Given the description of an element on the screen output the (x, y) to click on. 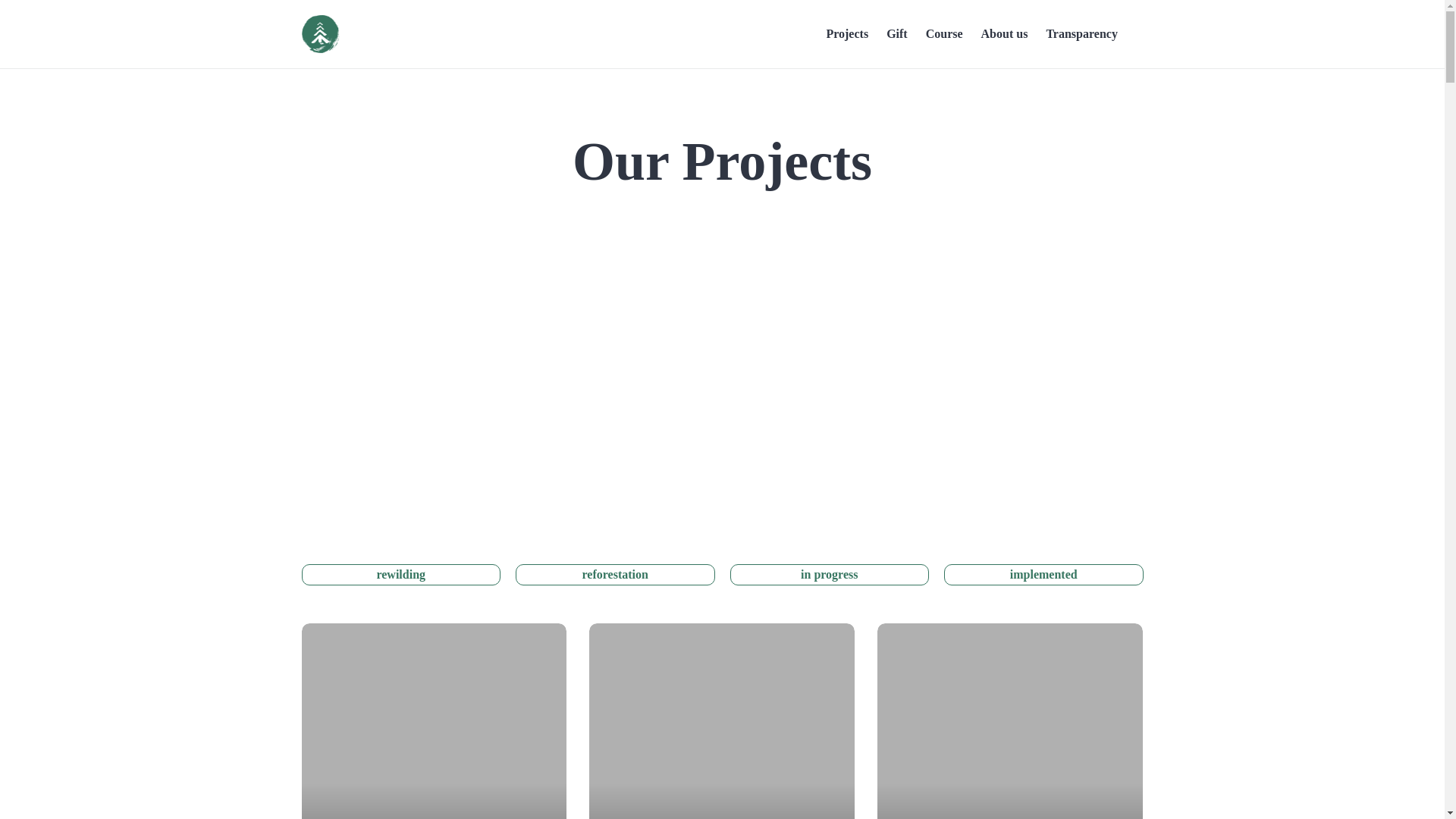
rewilding (400, 574)
Course (944, 33)
About us (1004, 33)
implemented (1042, 574)
Projects (846, 33)
in progress (828, 574)
Transparency (1081, 33)
reforestation (614, 574)
Gift (896, 33)
